Given the description of an element on the screen output the (x, y) to click on. 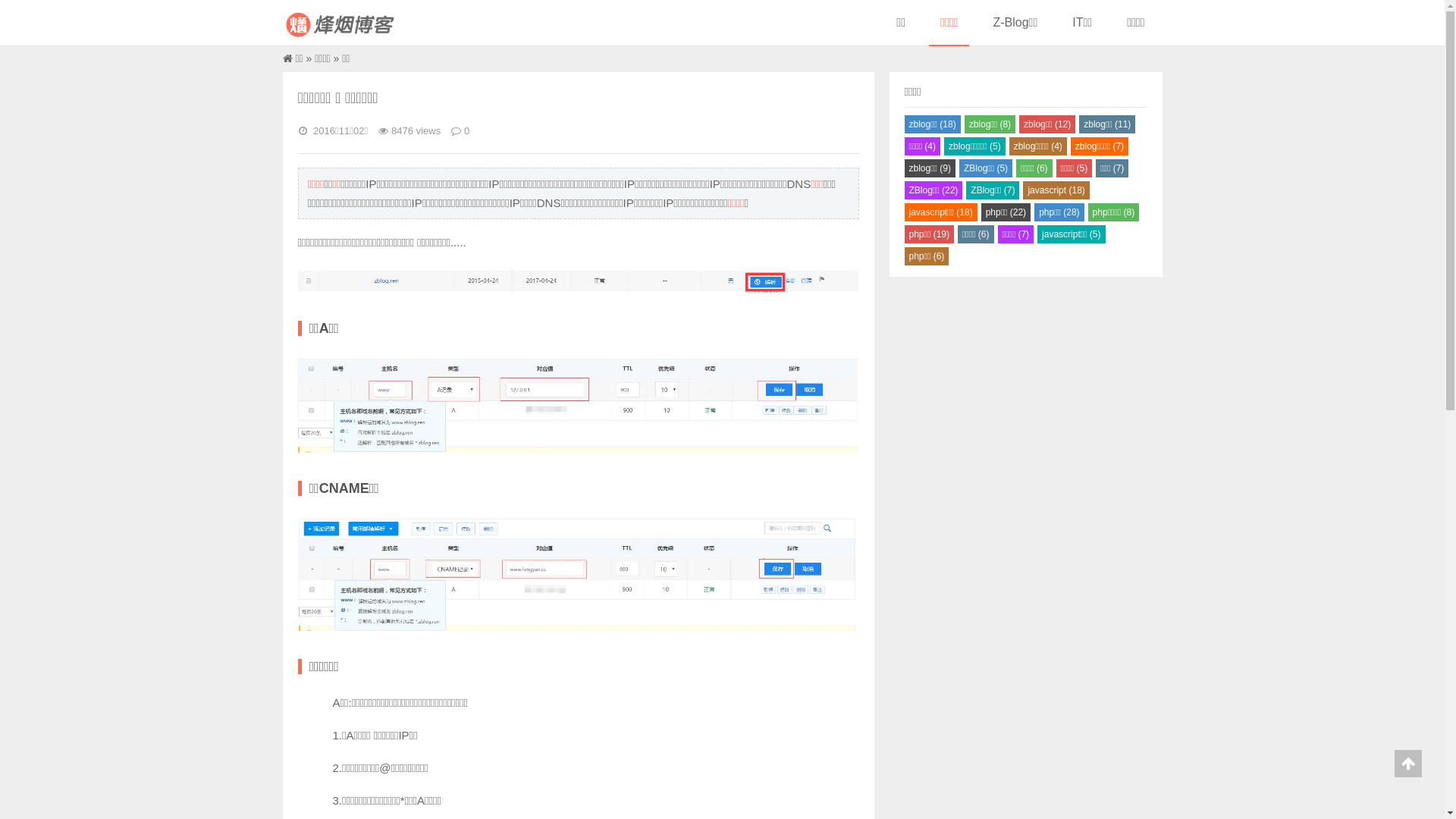
javascript (18) Element type: text (1055, 190)
0 Element type: text (466, 131)
